Given the description of an element on the screen output the (x, y) to click on. 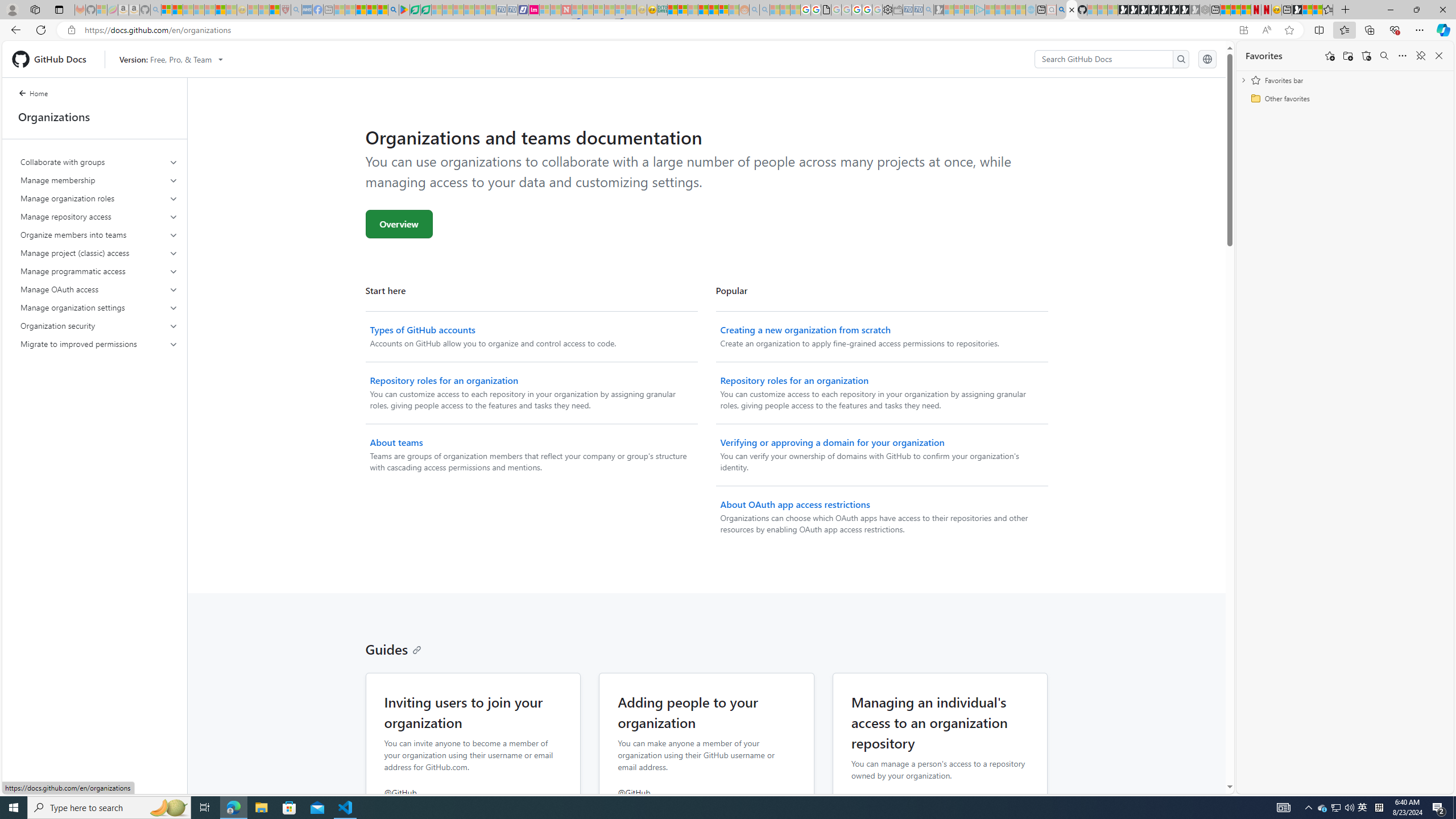
Organizations and teams documentation - GitHub Docs (1071, 9)
Manage programmatic access (99, 271)
